Given the description of an element on the screen output the (x, y) to click on. 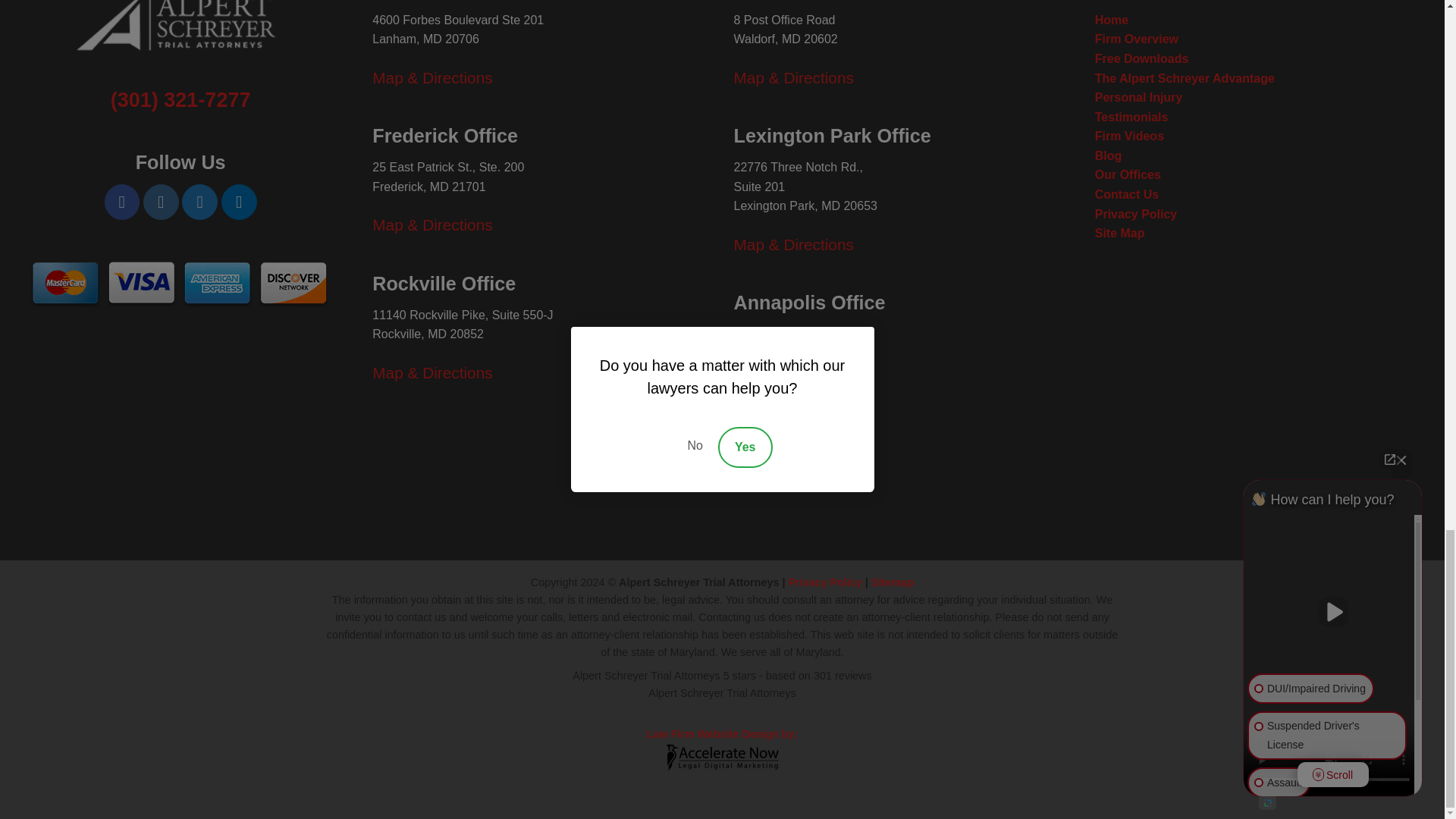
Follow on Instagram (160, 202)
Follow on Facebook (121, 202)
Follow on Twitter (199, 202)
Follow on LinkedIn (239, 202)
